Given the description of an element on the screen output the (x, y) to click on. 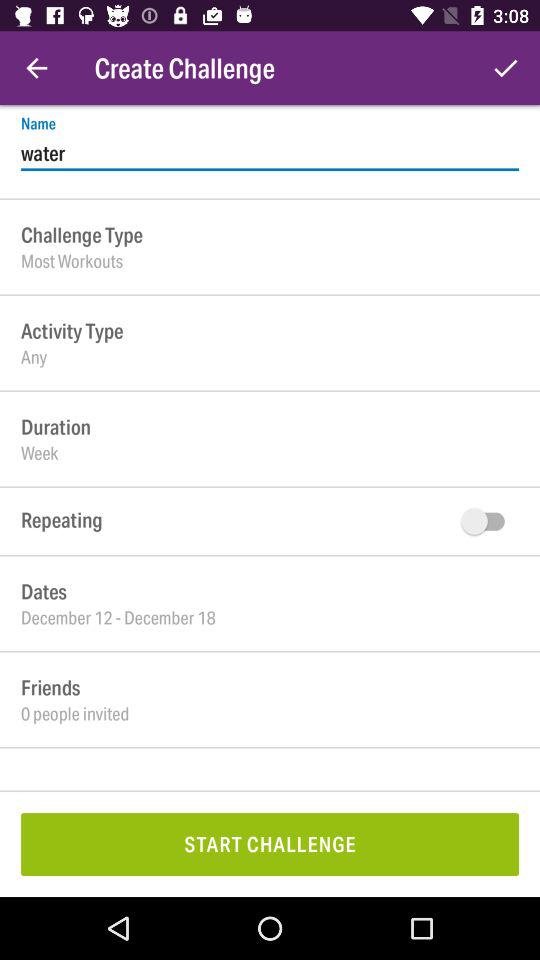
turn off on (487, 521)
